Given the description of an element on the screen output the (x, y) to click on. 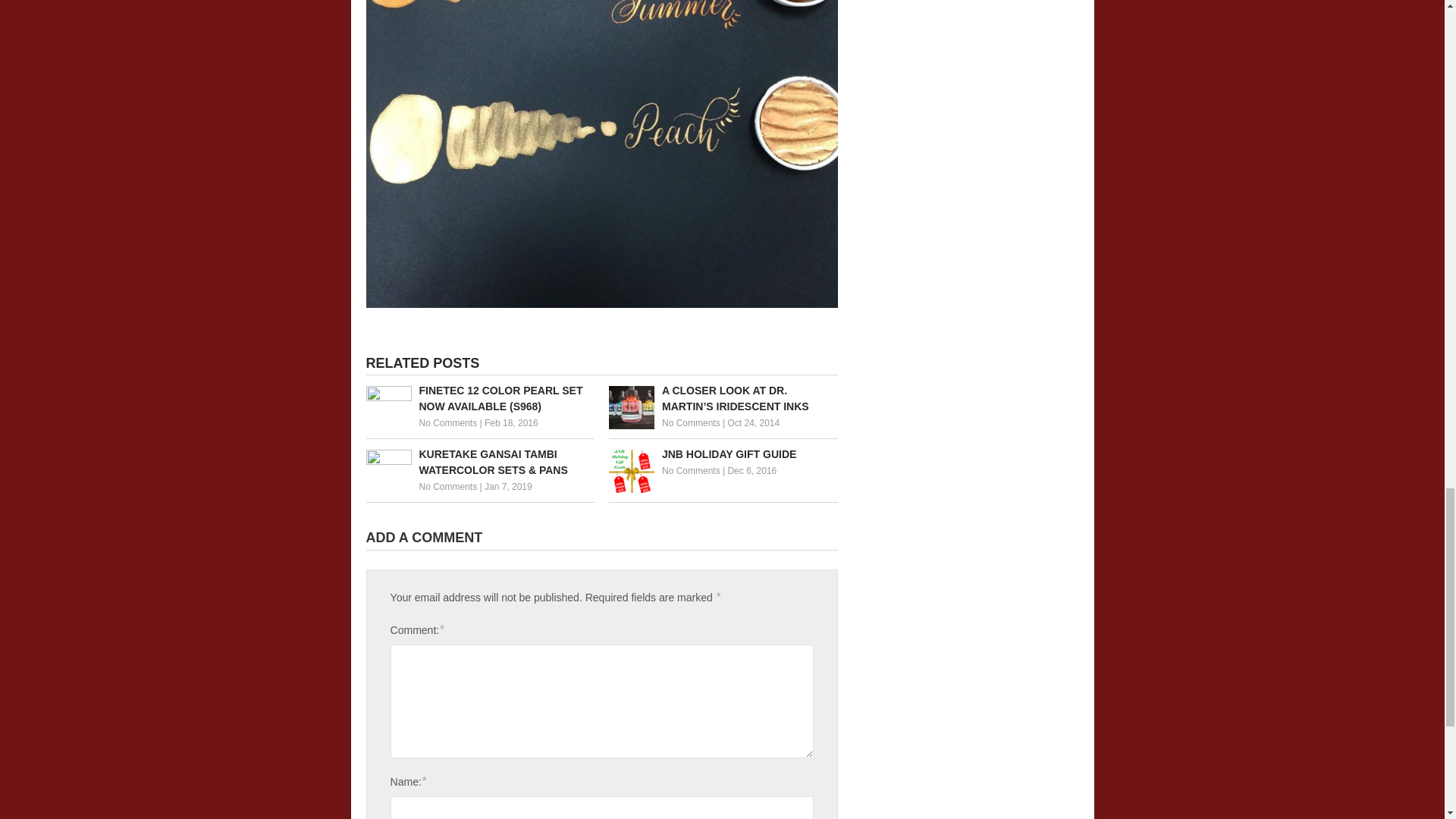
No Comments (691, 422)
JNB HOLIDAY GIFT GUIDE (723, 454)
JNB Holiday Gift Guide (723, 454)
No Comments (448, 486)
No Comments (691, 470)
No Comments (448, 422)
